Given the description of an element on the screen output the (x, y) to click on. 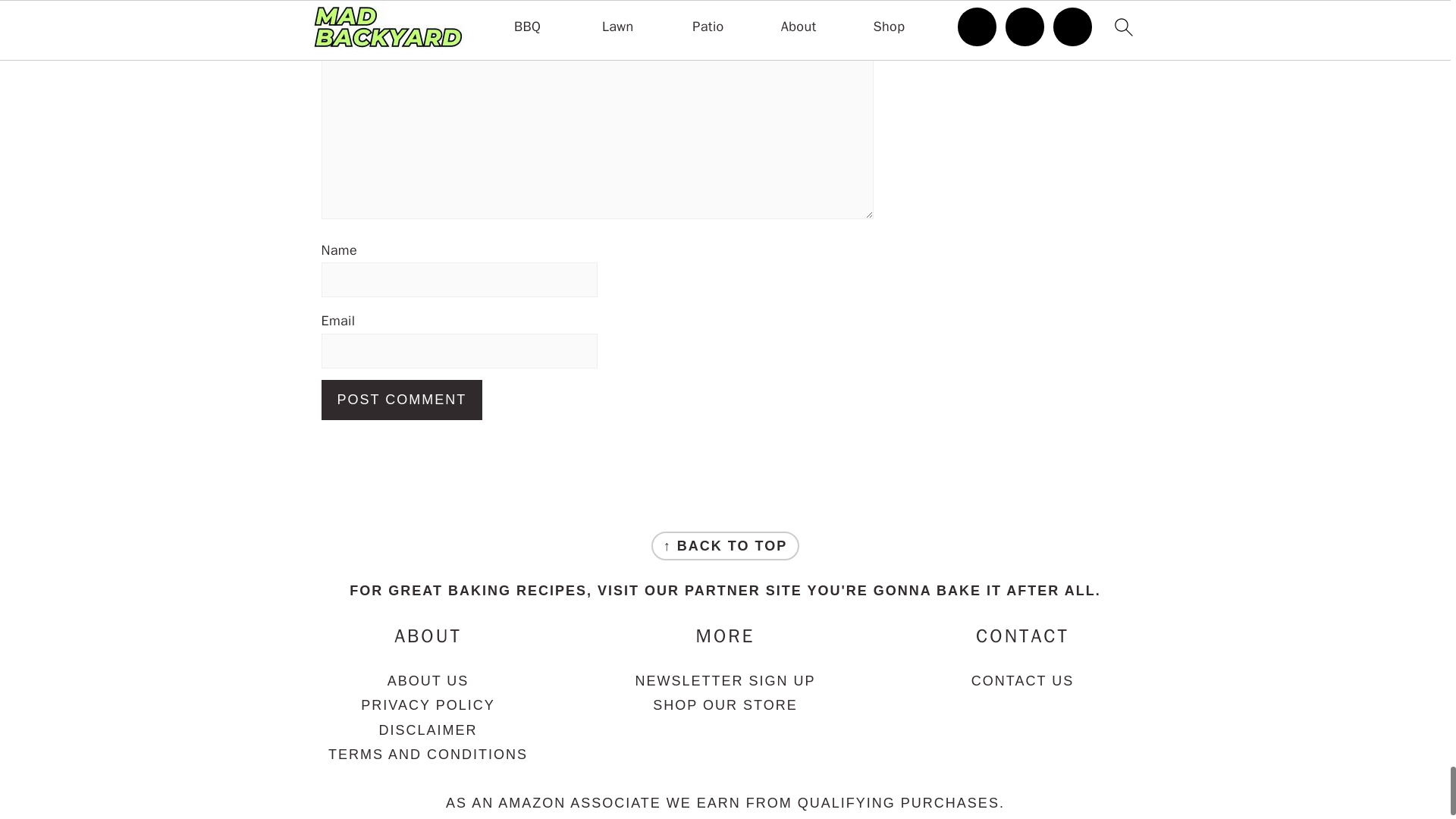
Post Comment (402, 400)
